Given the description of an element on the screen output the (x, y) to click on. 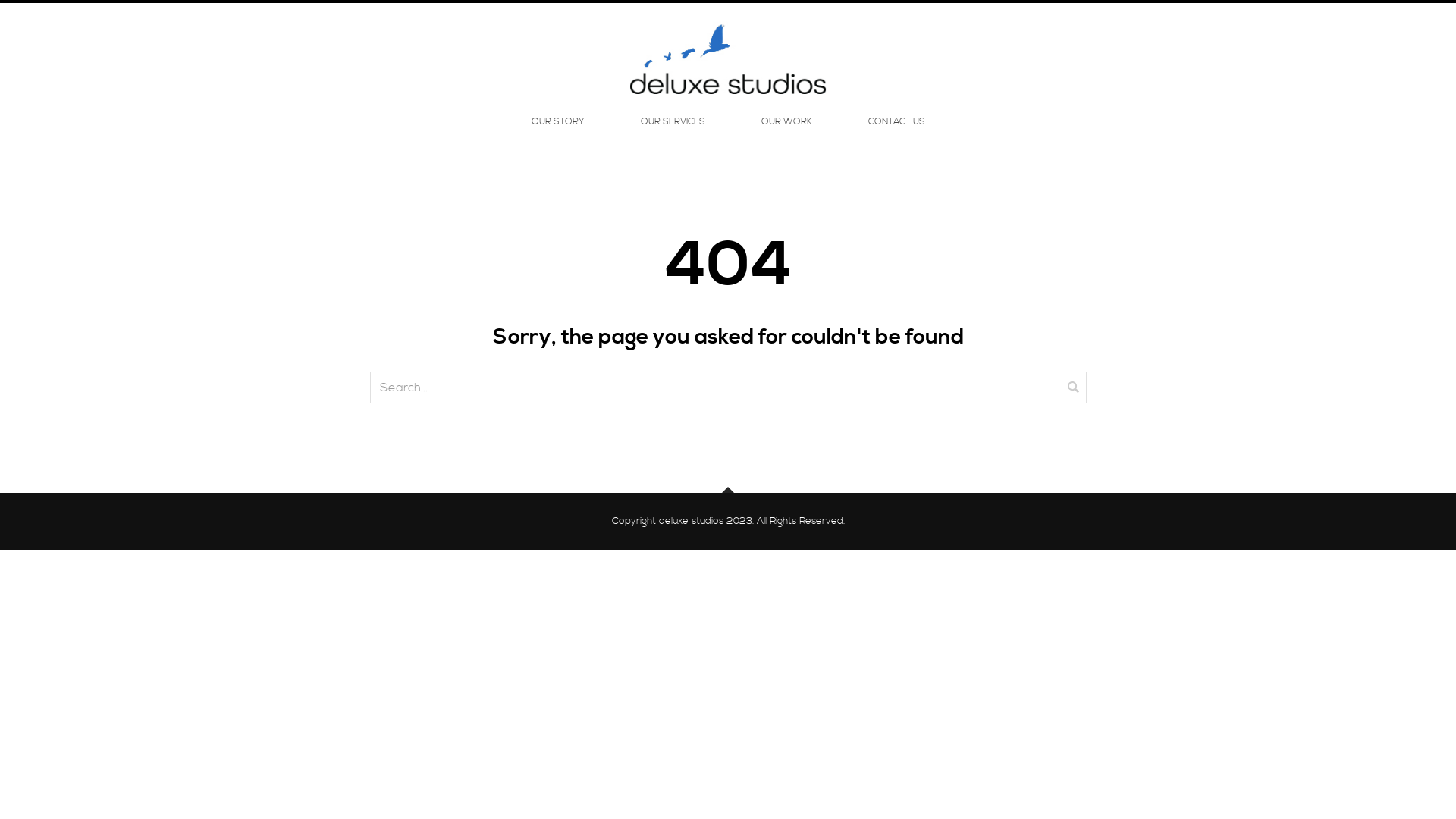
OUR WORK Element type: text (786, 121)
OUR SERVICES Element type: text (672, 121)
OUR STORY Element type: text (556, 121)
CONTACT US Element type: text (895, 121)
